Given the description of an element on the screen output the (x, y) to click on. 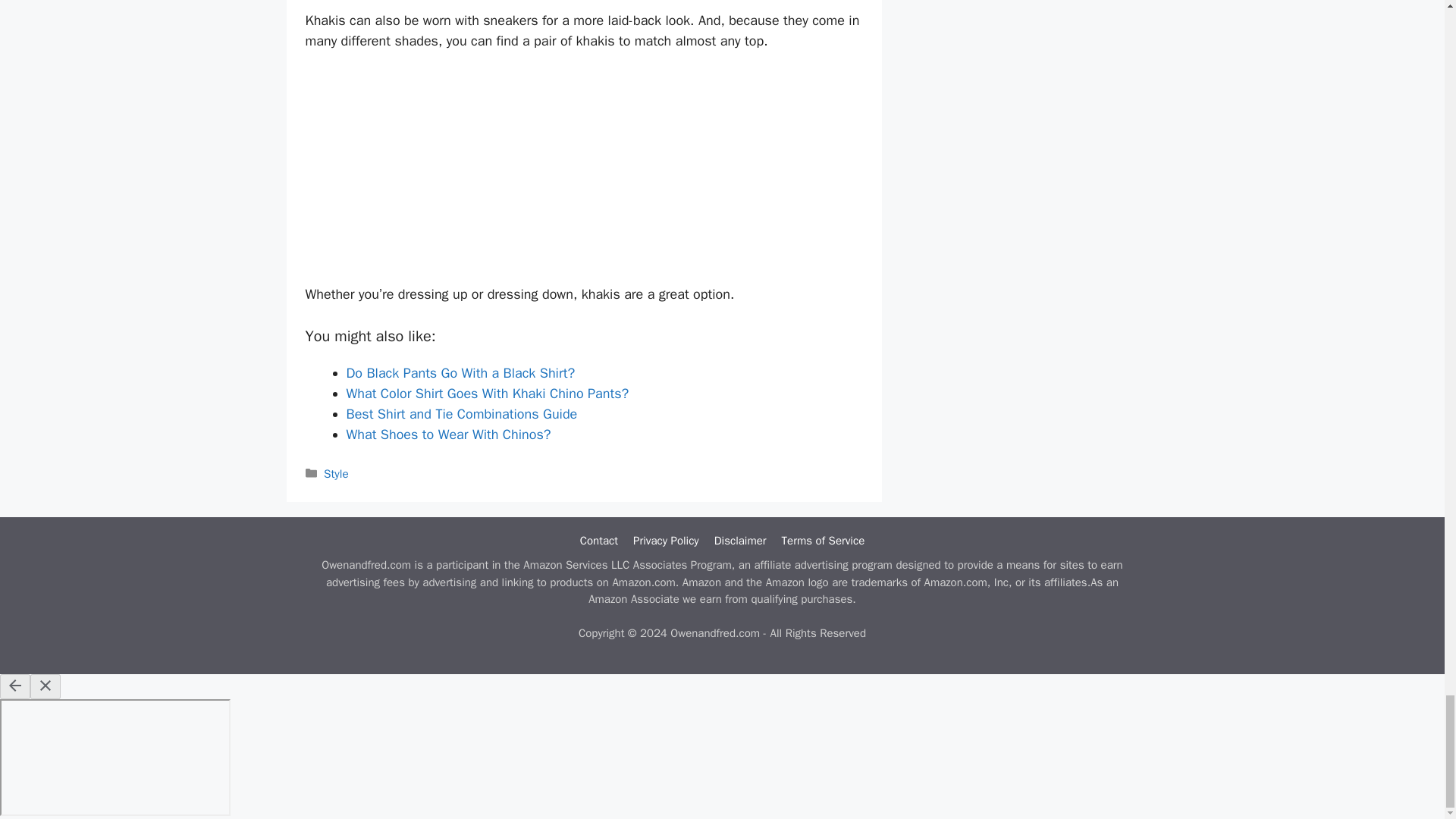
Style (336, 473)
What Color Shirt Goes With Khaki Chino Pants? (487, 393)
Do Black Pants Go With a Black Shirt? (460, 372)
Do Black Pants Go With a Black Shirt? (460, 372)
What Color Shirt Goes With Khaki Chino Pants? (487, 393)
What Shoes to Wear With Chinos? (448, 434)
Best Shirt and Tie Combinations Guide (461, 413)
